Given the description of an element on the screen output the (x, y) to click on. 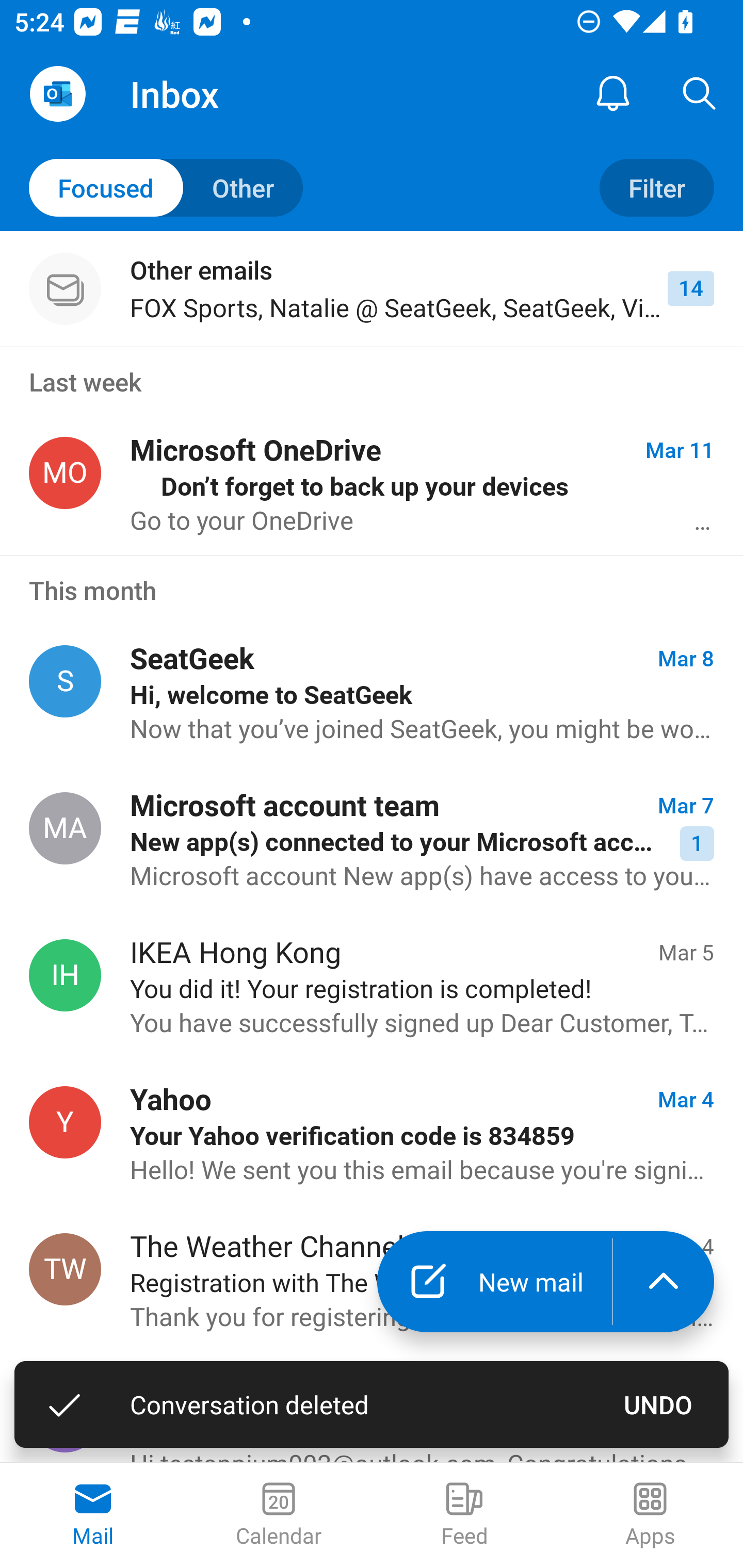
Notification Center (612, 93)
Search, ,  (699, 93)
Open Navigation Drawer (57, 94)
Toggle to other mails (165, 187)
Filter (656, 187)
SeatGeek, events@seatgeek.com (64, 682)
IKEA Hong Kong, IKHK_AWS@ikea.com.hk (64, 975)
Yahoo, no-reply@cc.yahoo-inc.com (64, 1122)
New mail (494, 1281)
launch the extended action menu (663, 1281)
The Weather Channel, noreply@weather.com (64, 1270)
UNDO (658, 1404)
Genymotion, genymotion-activation@genymobile.com (64, 1415)
Calendar (278, 1515)
Feed (464, 1515)
Apps (650, 1515)
